Given the description of an element on the screen output the (x, y) to click on. 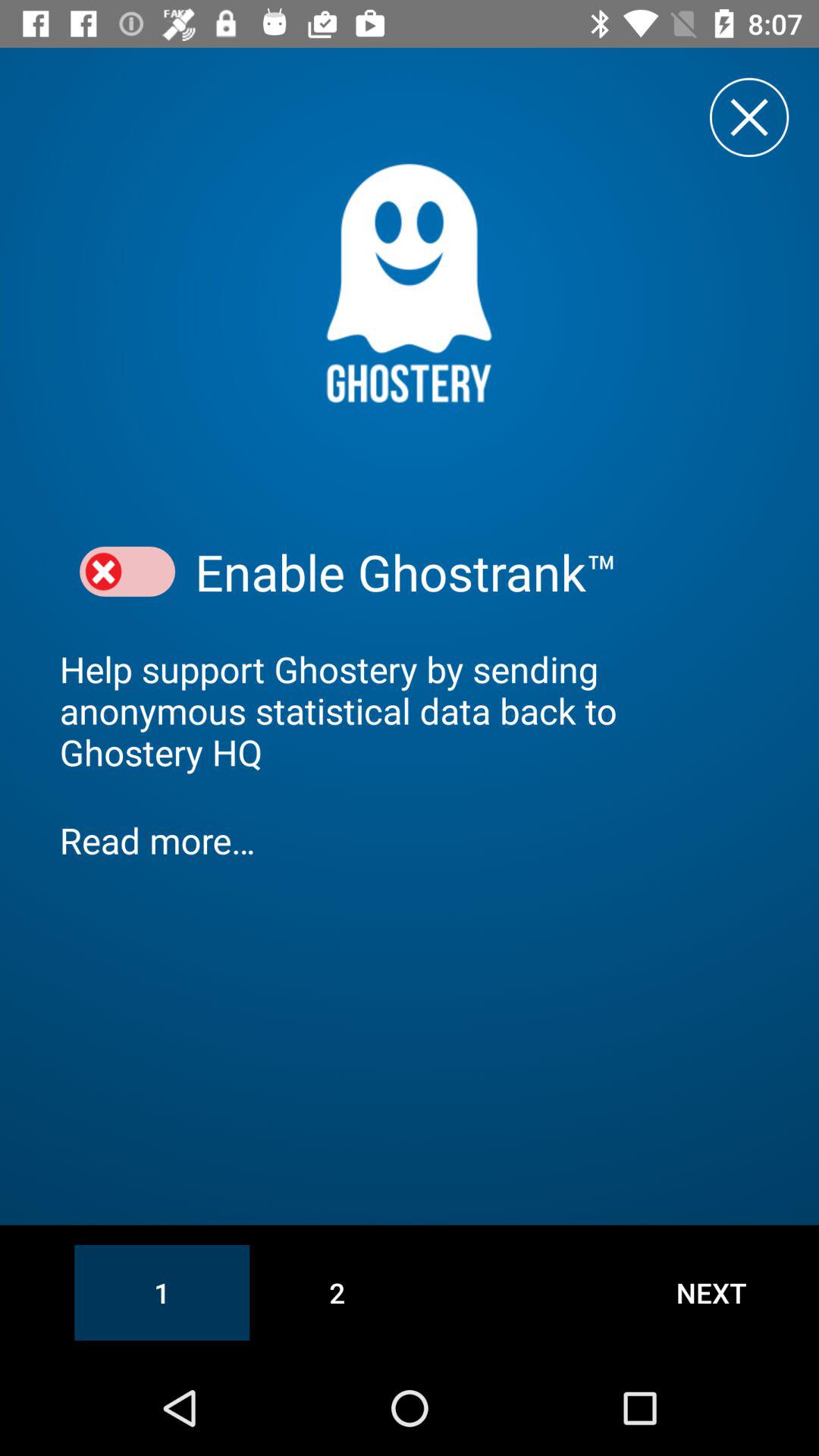
scroll to next item (711, 1292)
